Given the description of an element on the screen output the (x, y) to click on. 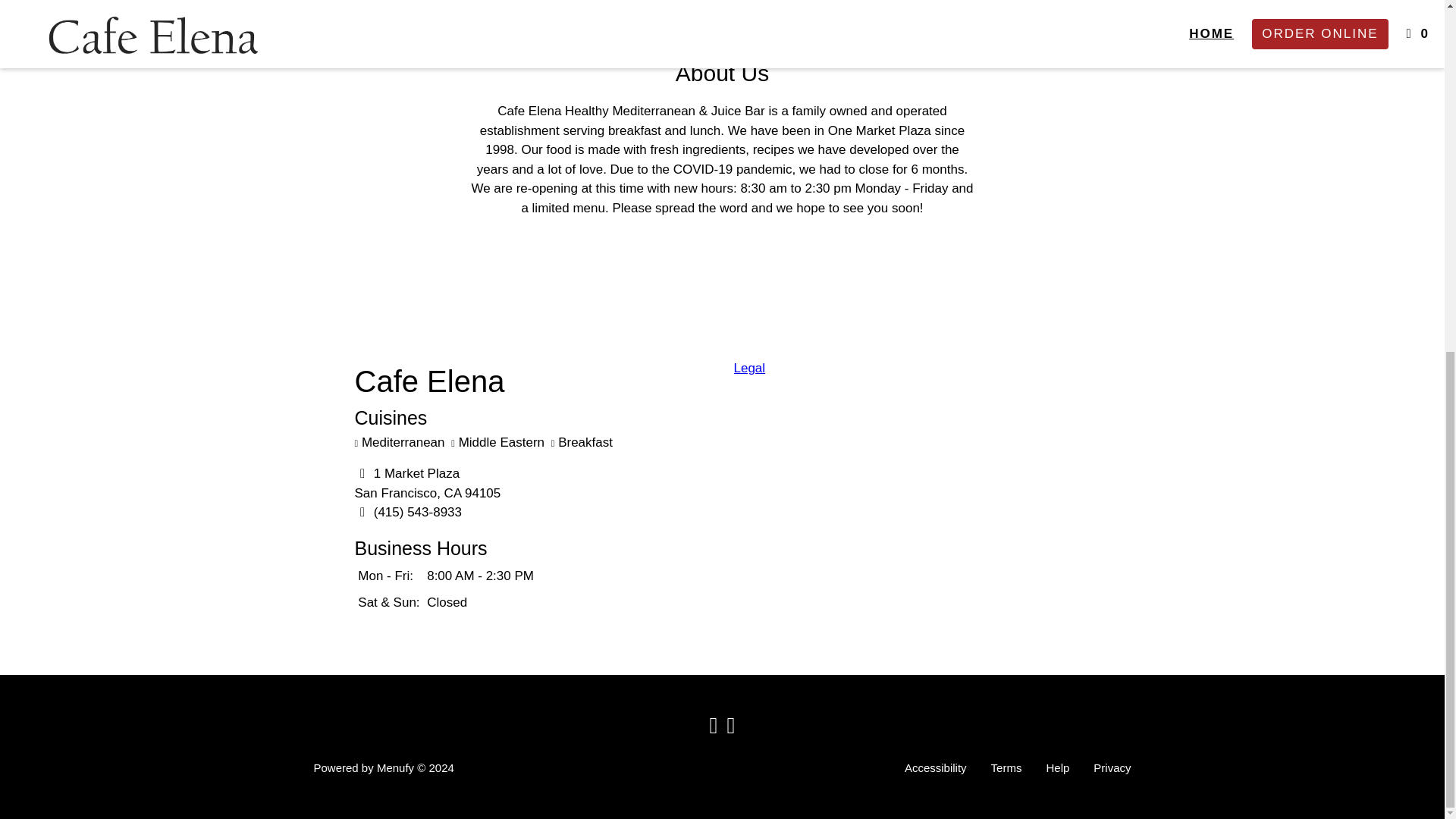
Accessibility (935, 767)
Privacy (1111, 767)
Menufy (395, 767)
Terms (1005, 767)
Help (427, 483)
